Given the description of an element on the screen output the (x, y) to click on. 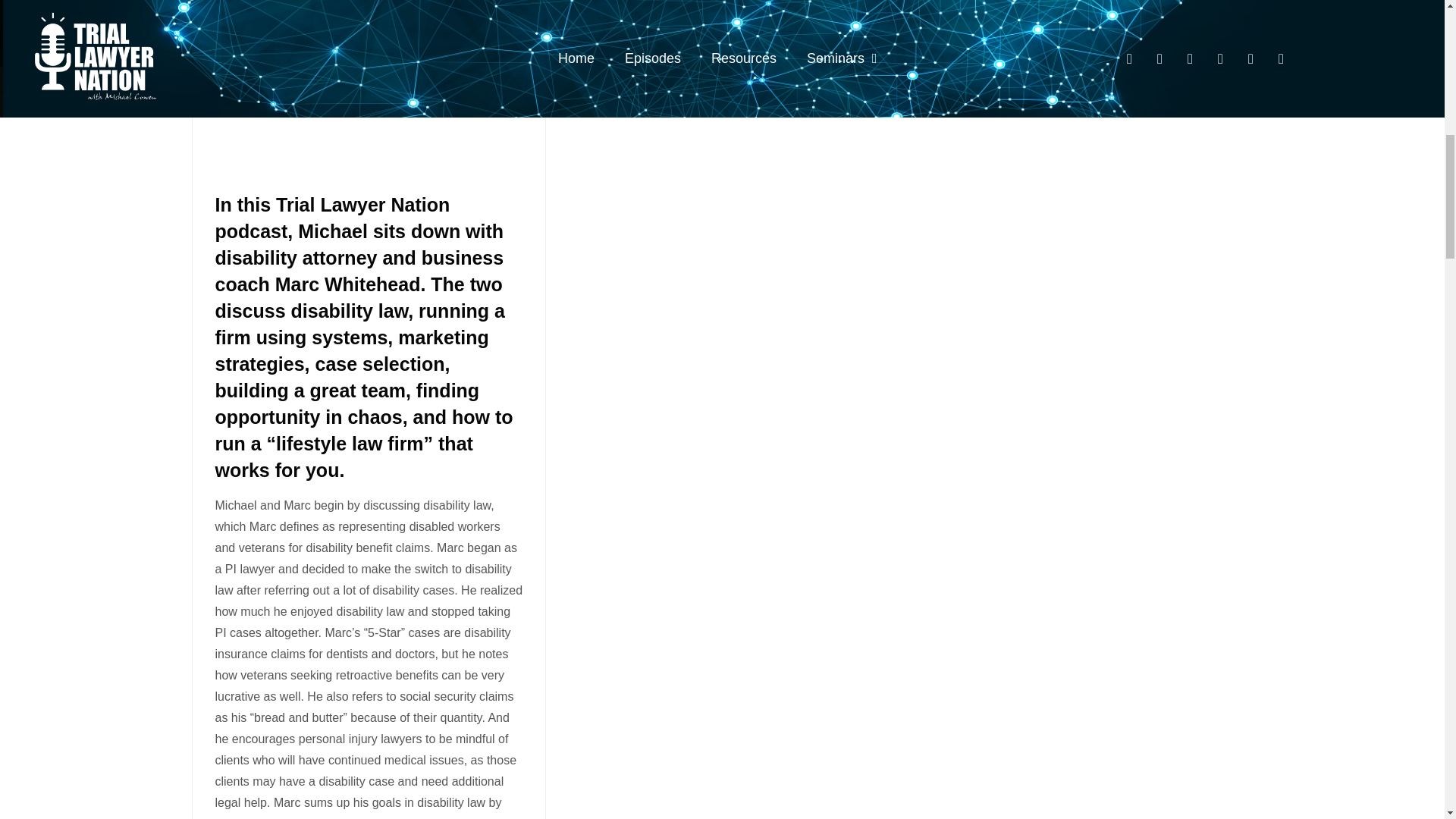
Michael Cowen (266, 4)
